Given the description of an element on the screen output the (x, y) to click on. 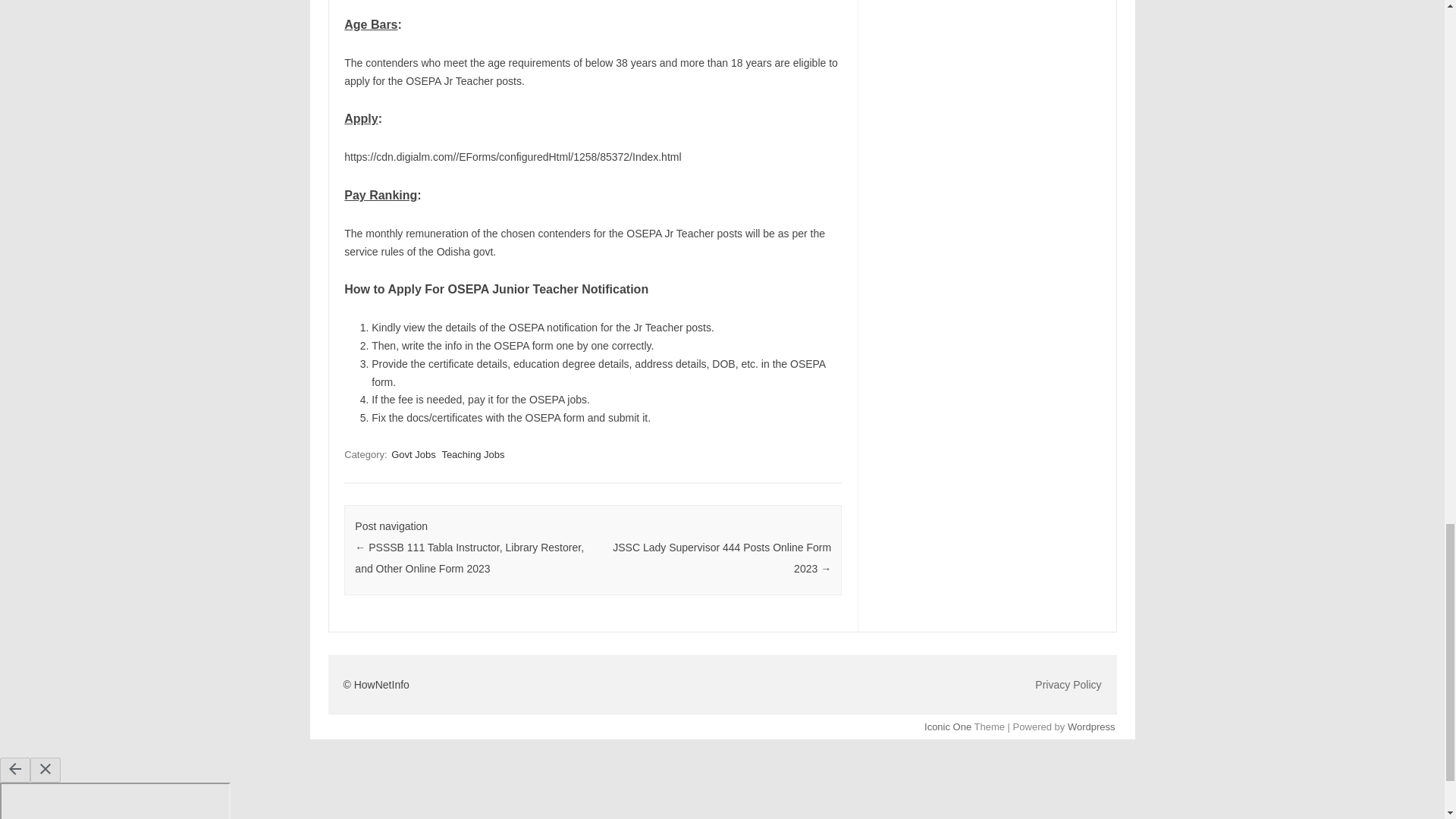
Iconic One (947, 726)
Privacy Policy (1067, 684)
Teaching Jobs (472, 454)
Wordpress (1091, 726)
Govt Jobs (414, 454)
